Given the description of an element on the screen output the (x, y) to click on. 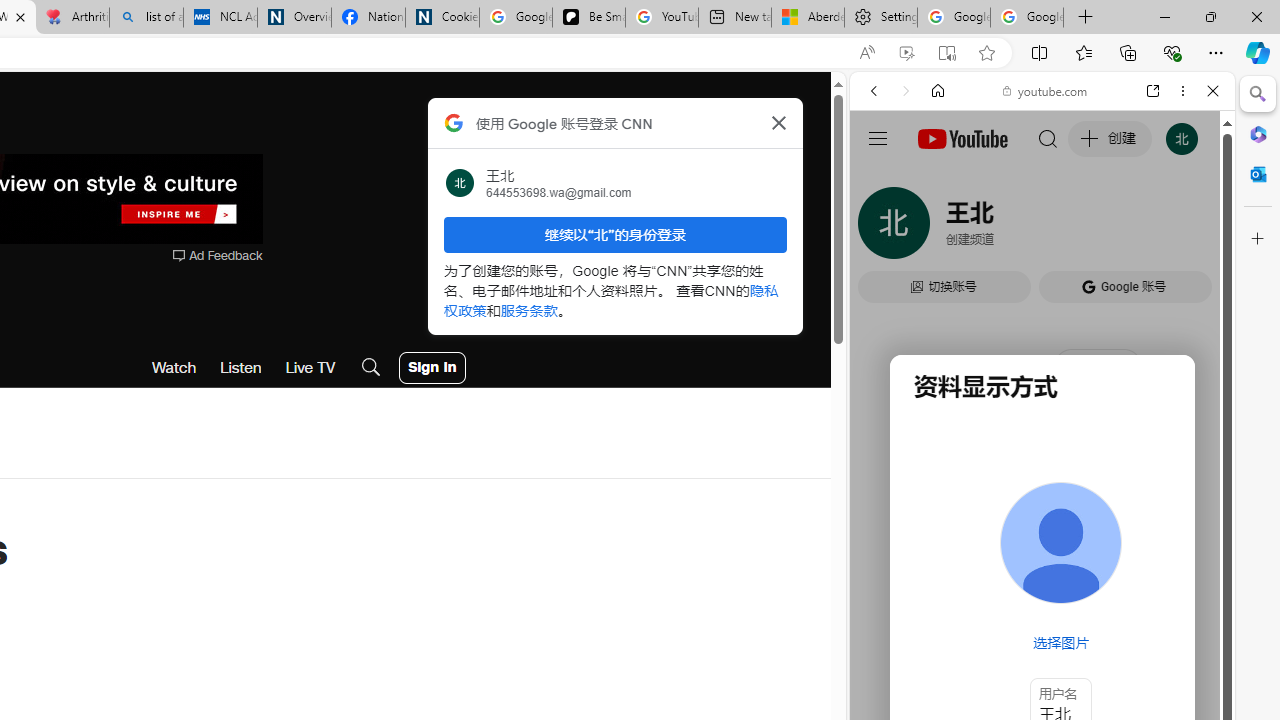
Live TV (310, 367)
Trailer #2 [HD] (1042, 592)
Class: Bz112c Bz112c-r9oPif (778, 122)
